Given the description of an element on the screen output the (x, y) to click on. 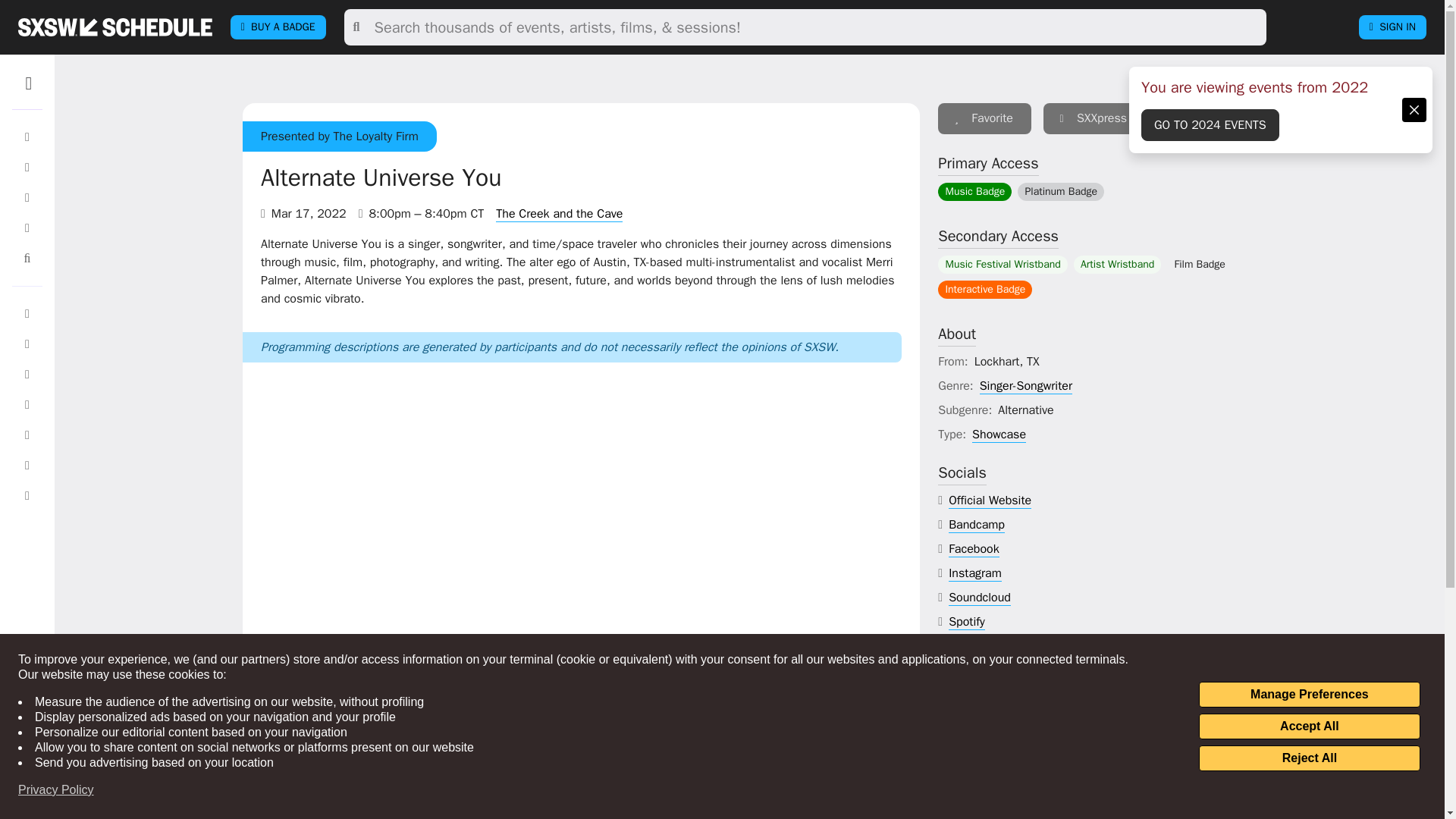
instagram (975, 573)
Sign In to add to your favorites. (983, 118)
bandcamp (976, 524)
website (989, 500)
Reject All (1309, 758)
BUY A BADGE (278, 27)
Privacy Policy (55, 789)
Accept All (1309, 726)
spotify (967, 621)
SIGN IN (1392, 27)
soundcloud (979, 597)
GO TO 2024 EVENTS (1210, 124)
sxsw SCHEDULE (114, 27)
Manage Preferences (1309, 694)
youtube (970, 646)
